Given the description of an element on the screen output the (x, y) to click on. 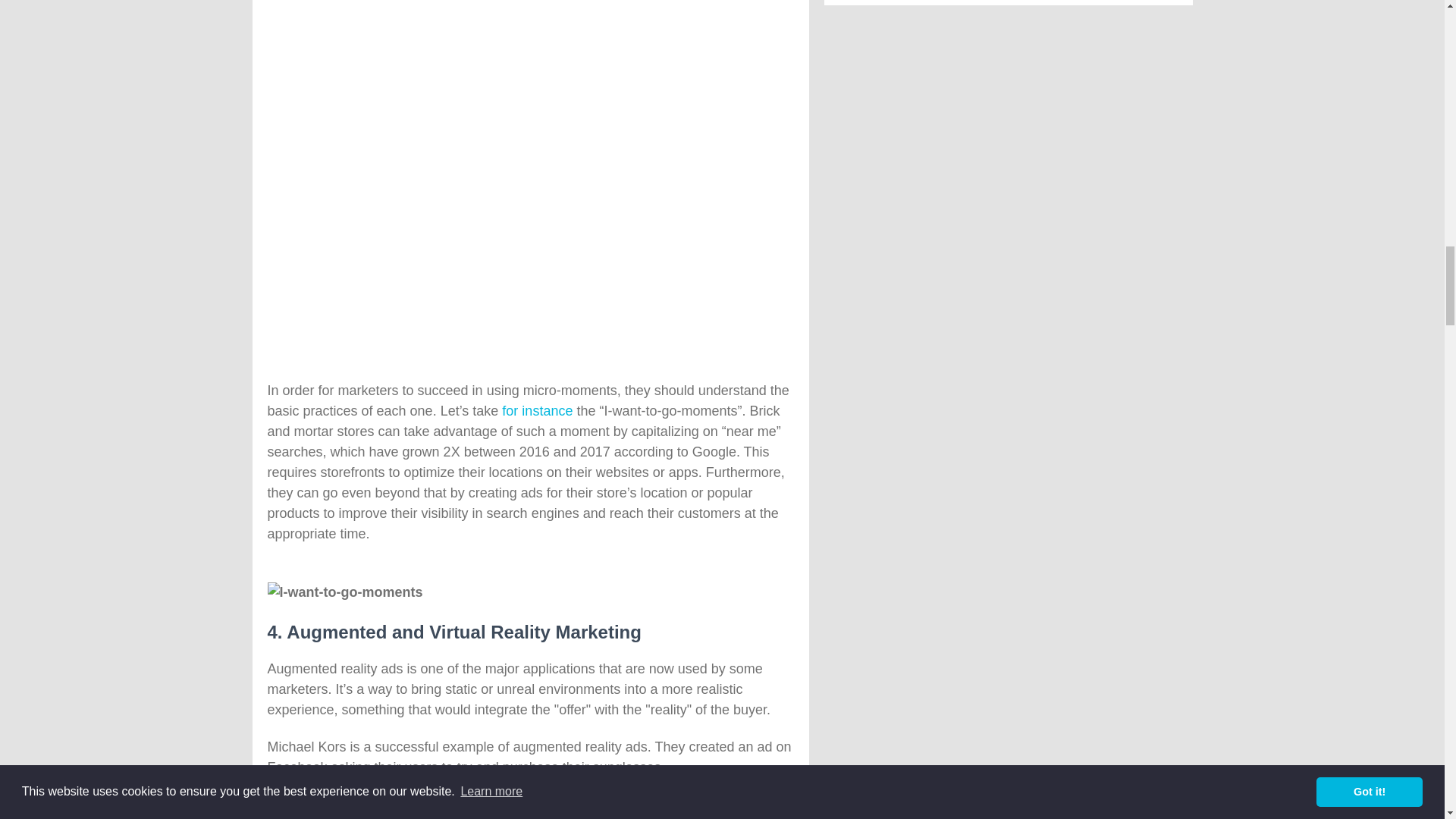
for instance (537, 410)
